Given the description of an element on the screen output the (x, y) to click on. 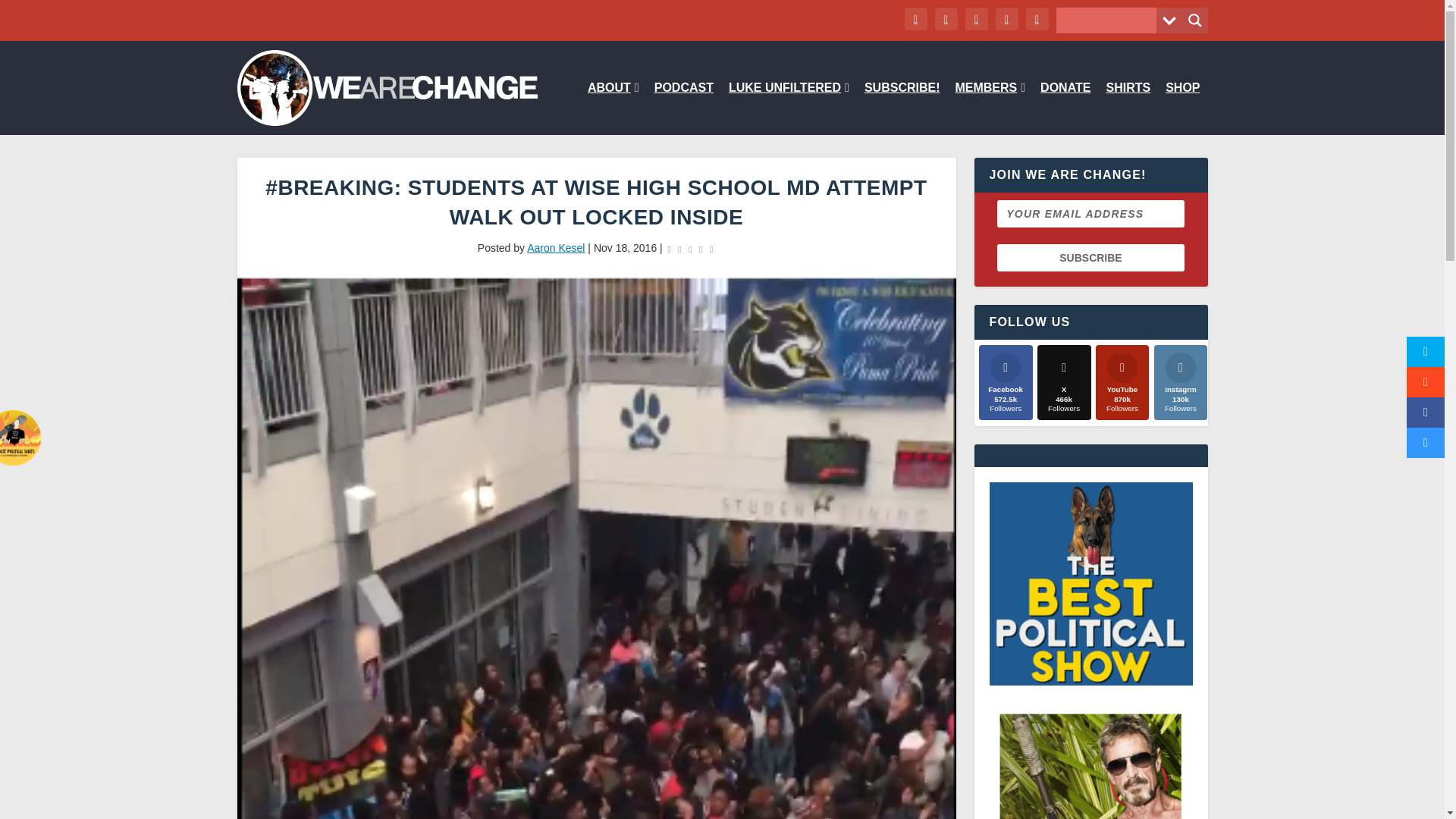
Posts by Aaron Kesel (556, 247)
MEMBERS (990, 108)
About (613, 108)
DONATE (1065, 108)
PODCAST (683, 108)
SUBSCRIBE! (902, 108)
ABOUT (613, 108)
LUKE UNFILTERED (788, 108)
Rating: 0.00 (690, 248)
Subscribe (1090, 257)
